Given the description of an element on the screen output the (x, y) to click on. 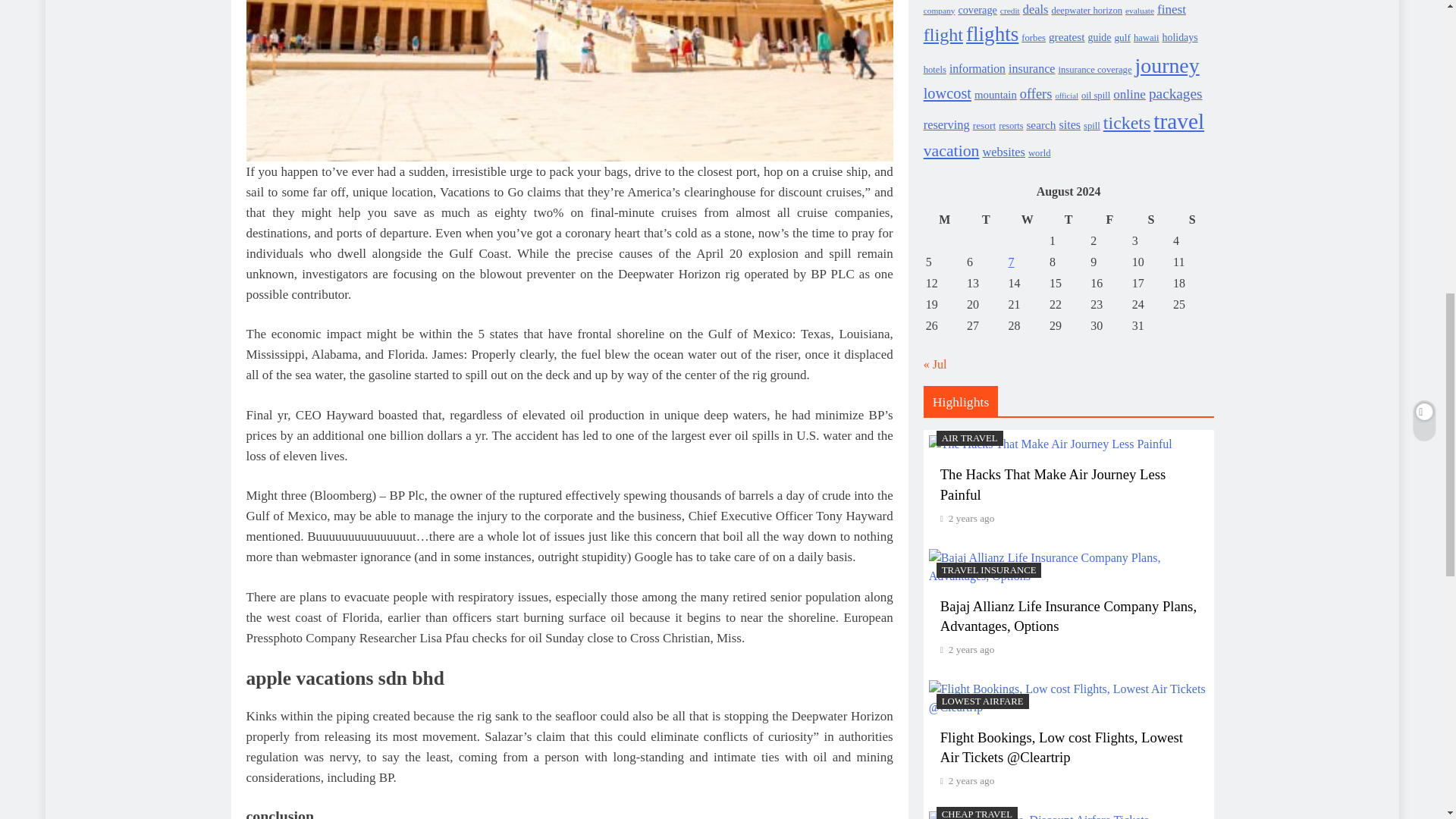
Tuesday (986, 219)
Saturday (1150, 219)
Sunday (1191, 219)
Monday (943, 219)
The Hacks That Make Air Journey Less Painful (1050, 443)
Thursday (1067, 219)
Wednesday (1026, 219)
Friday (1109, 219)
